Given the description of an element on the screen output the (x, y) to click on. 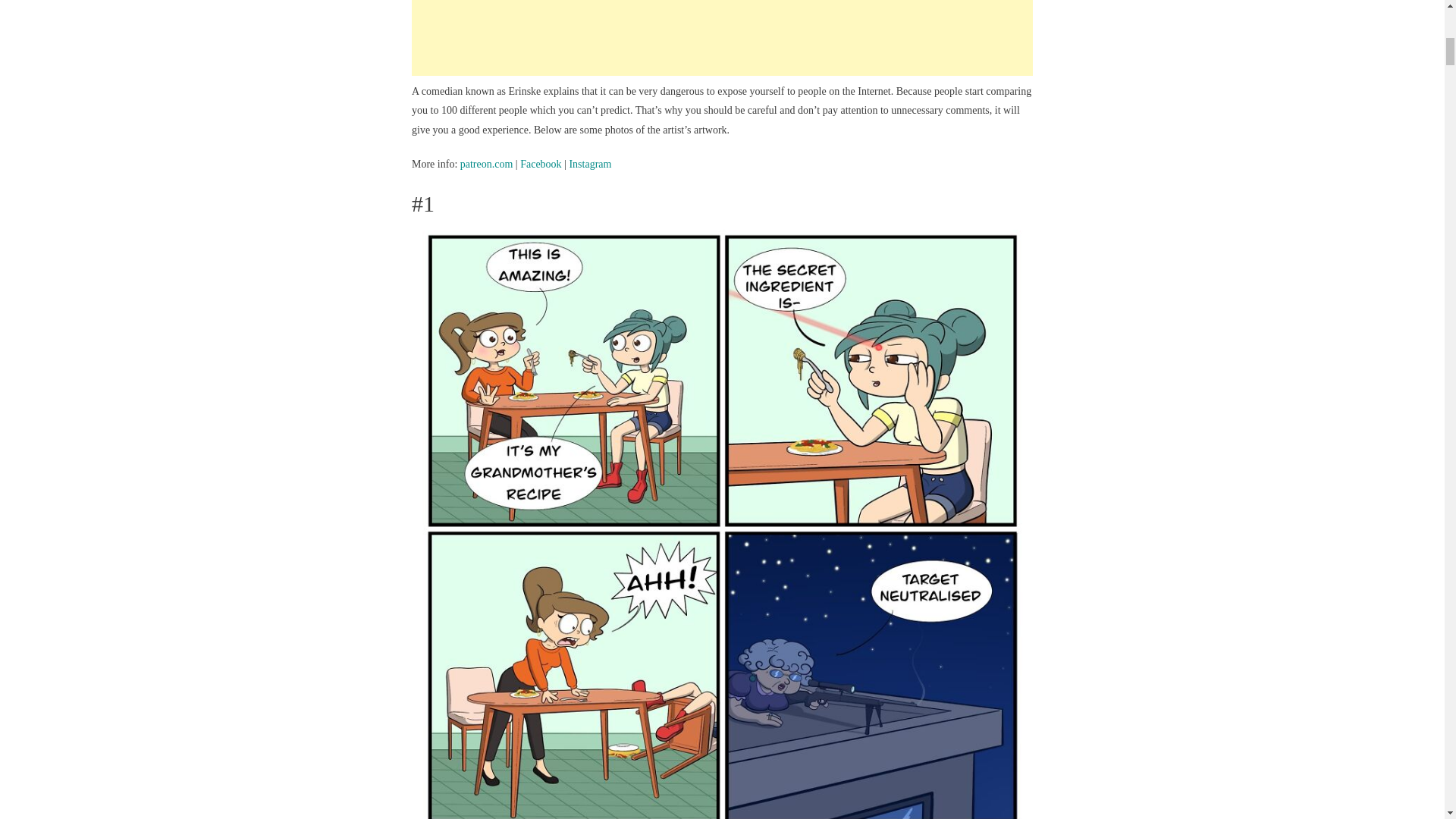
Facebook (539, 163)
Instagram (590, 163)
patreon.com (486, 163)
